Given the description of an element on the screen output the (x, y) to click on. 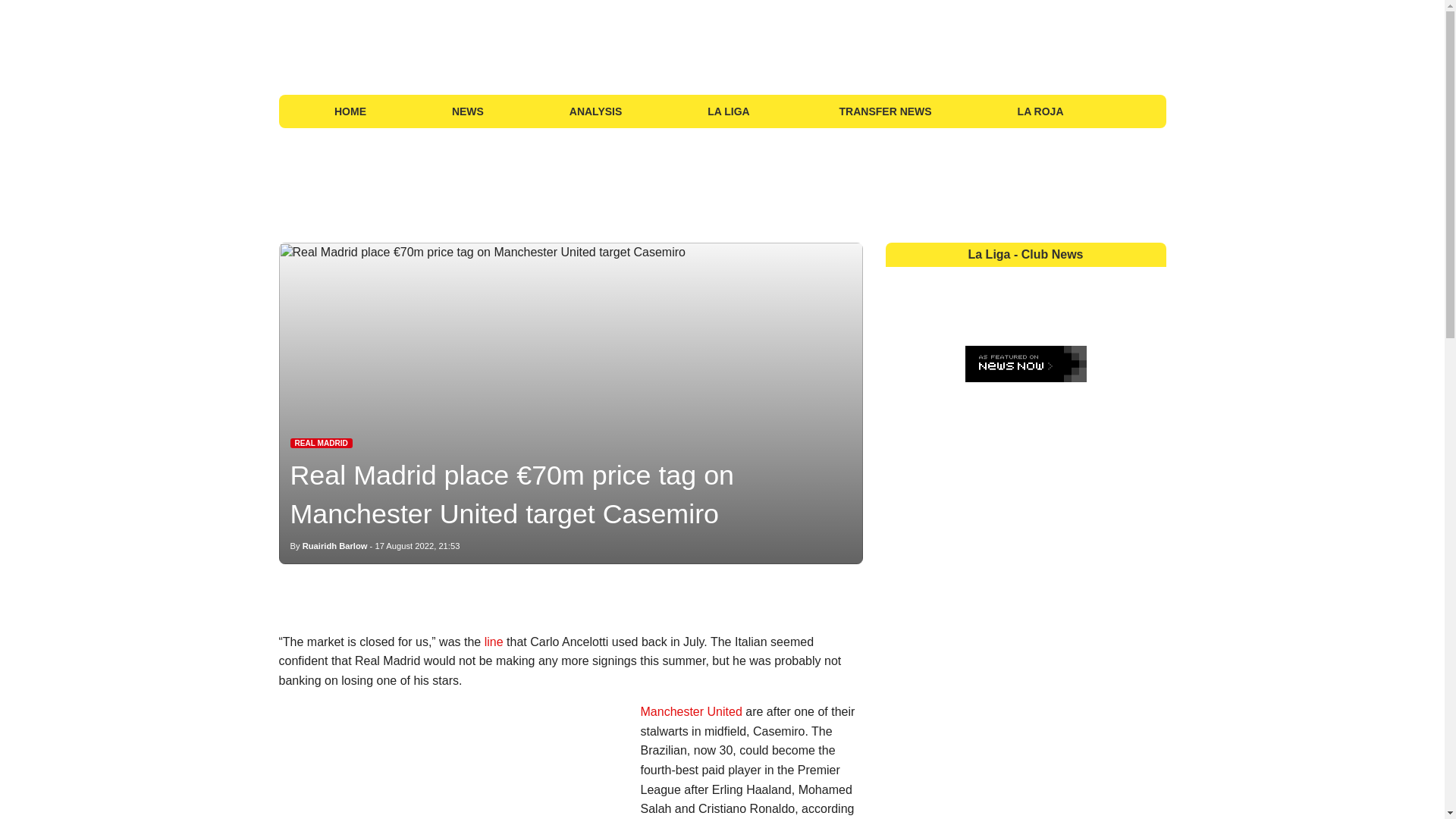
TRANSFER NEWS (885, 111)
HOME (350, 111)
Search (1147, 111)
ANALYSIS (595, 111)
NEWS (468, 111)
LA LIGA (729, 111)
Latest Real Madrid News (320, 442)
LA ROJA (1040, 111)
La Liga Fixtures (1125, 111)
